Given the description of an element on the screen output the (x, y) to click on. 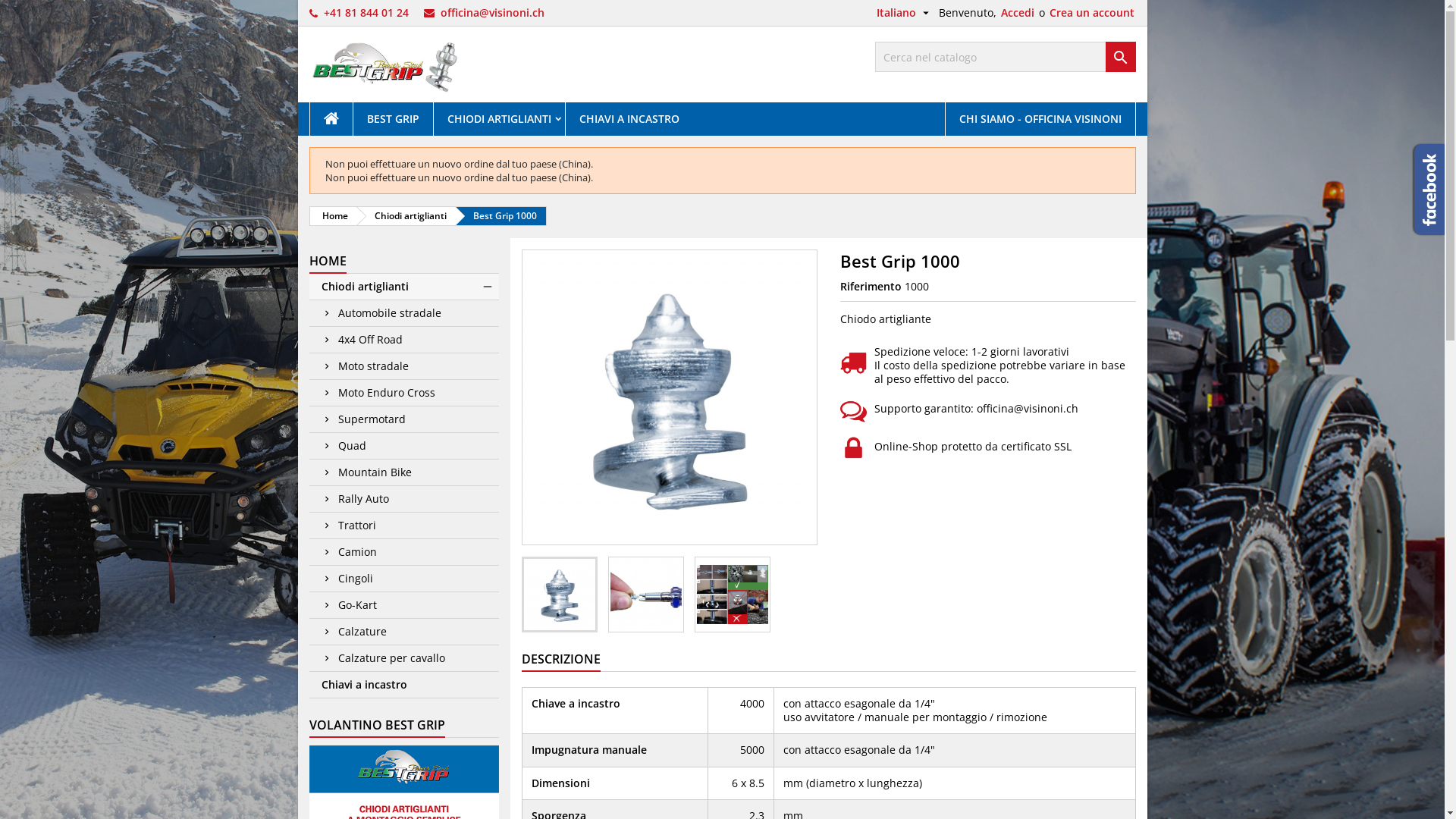
Mountain Bike Element type: text (403, 472)
Best Grip 1000 Element type: text (501, 216)
Crea un account Element type: text (1091, 12)
Trattori Element type: text (403, 525)
Quad Element type: text (403, 446)
Home Element type: text (331, 216)
Camion Element type: text (403, 552)
Moto Enduro Cross Element type: text (403, 392)
Supermotard Element type: text (403, 419)
Chiodi artiglianti Element type: text (403, 286)
Accedi Element type: text (1017, 12)
Aggiorna Element type: text (28, 9)
Go-Kart Element type: text (403, 605)
CHIAVI A INCASTRO Element type: text (629, 118)
Automobile stradale Element type: text (403, 313)
Calzature Element type: text (403, 631)
CHIODI ARTIGLIANTI Element type: text (498, 118)
officina@visinoni.ch Element type: text (491, 12)
Calzature per cavallo Element type: text (403, 658)
Rally Auto Element type: text (403, 499)
Chiodi artiglianti Element type: text (405, 216)
CHI SIAMO - OFFICINA VISINONI Element type: text (1039, 118)
HOME Element type: text (327, 261)
Cingoli Element type: text (403, 578)
4x4 Off Road Element type: text (403, 339)
BEST GRIP Element type: text (393, 118)
Chiavi a incastro Element type: text (403, 684)
Moto stradale Element type: text (403, 366)
